Given the description of an element on the screen output the (x, y) to click on. 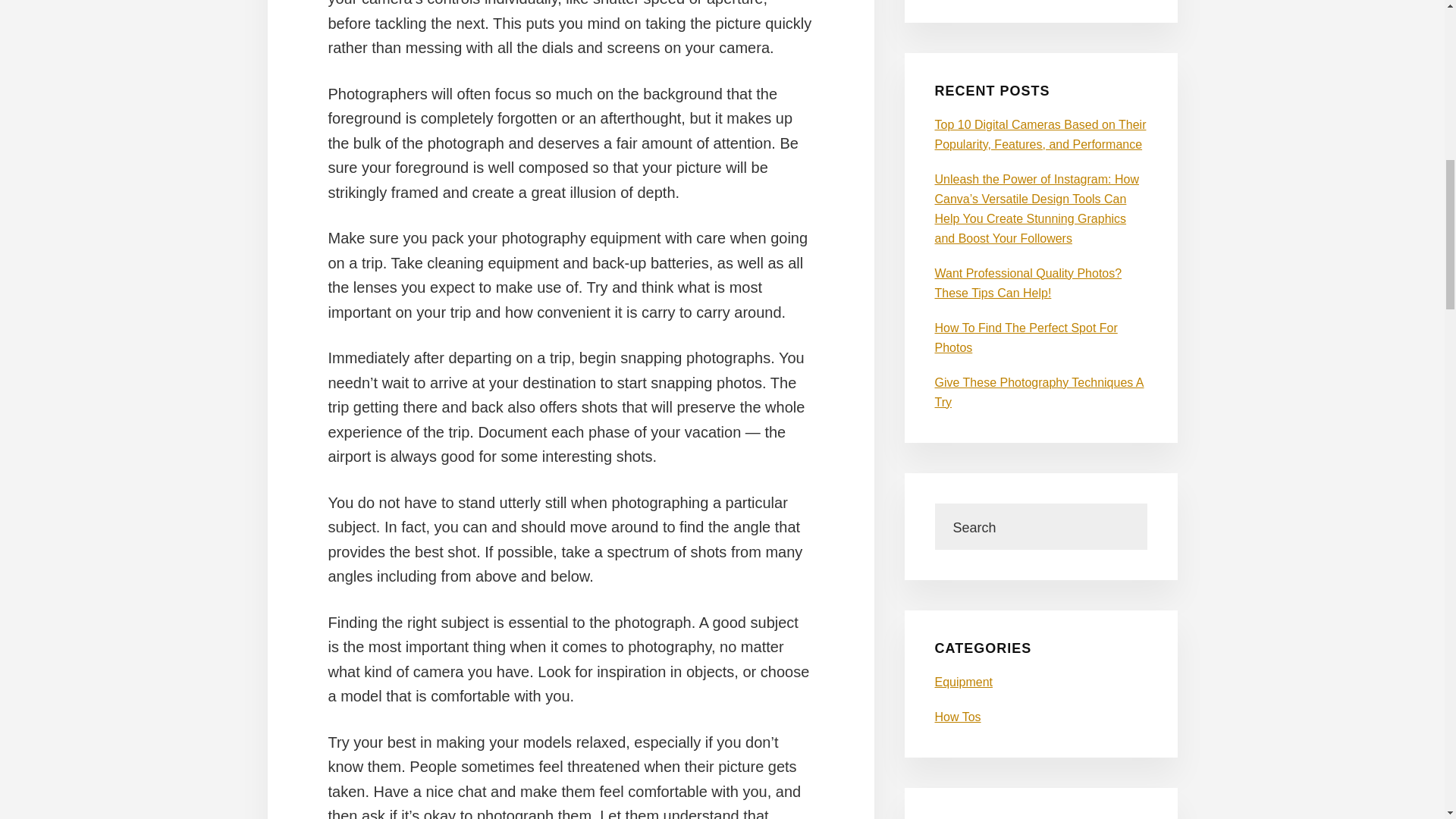
Want Professional Quality Photos? These Tips Can Help! (1027, 282)
How To Find The Perfect Spot For Photos (1025, 337)
